Given the description of an element on the screen output the (x, y) to click on. 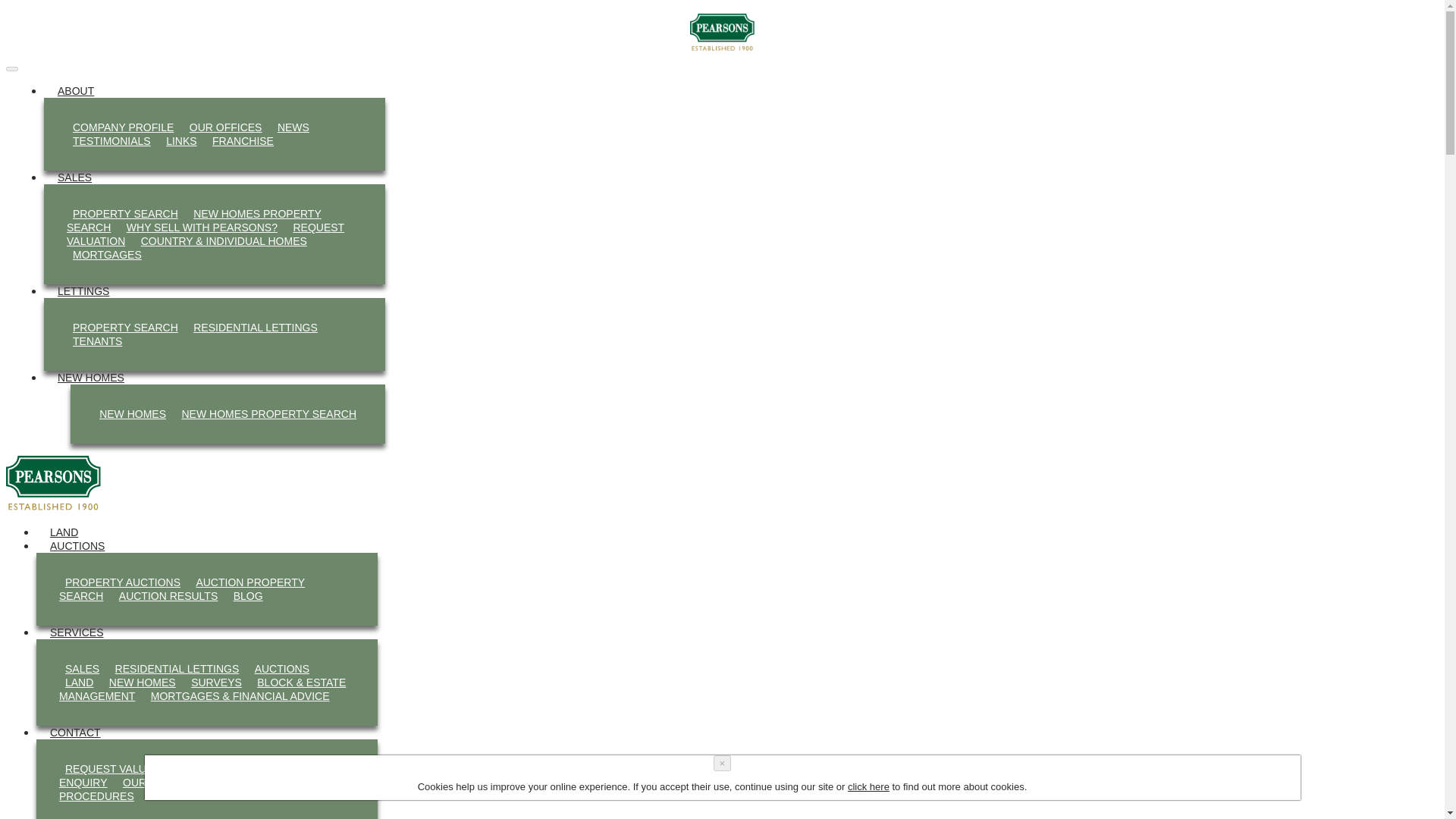
SERVICES (76, 632)
REQUEST VALUATION (204, 234)
LINKS (181, 140)
AUCTION RESULTS (168, 595)
LAND (79, 681)
WHY SELL WITH PEARSONS? (201, 227)
AUCTIONS (76, 546)
COMPANY PROFILE (122, 127)
NEW HOMES PROPERTY SEARCH (193, 220)
BLOG (248, 595)
NEWS (292, 127)
NEW HOMES (142, 681)
MORTGAGES (107, 254)
PROPERTY AUCTIONS (122, 581)
PROPERTY SEARCH (125, 327)
